Given the description of an element on the screen output the (x, y) to click on. 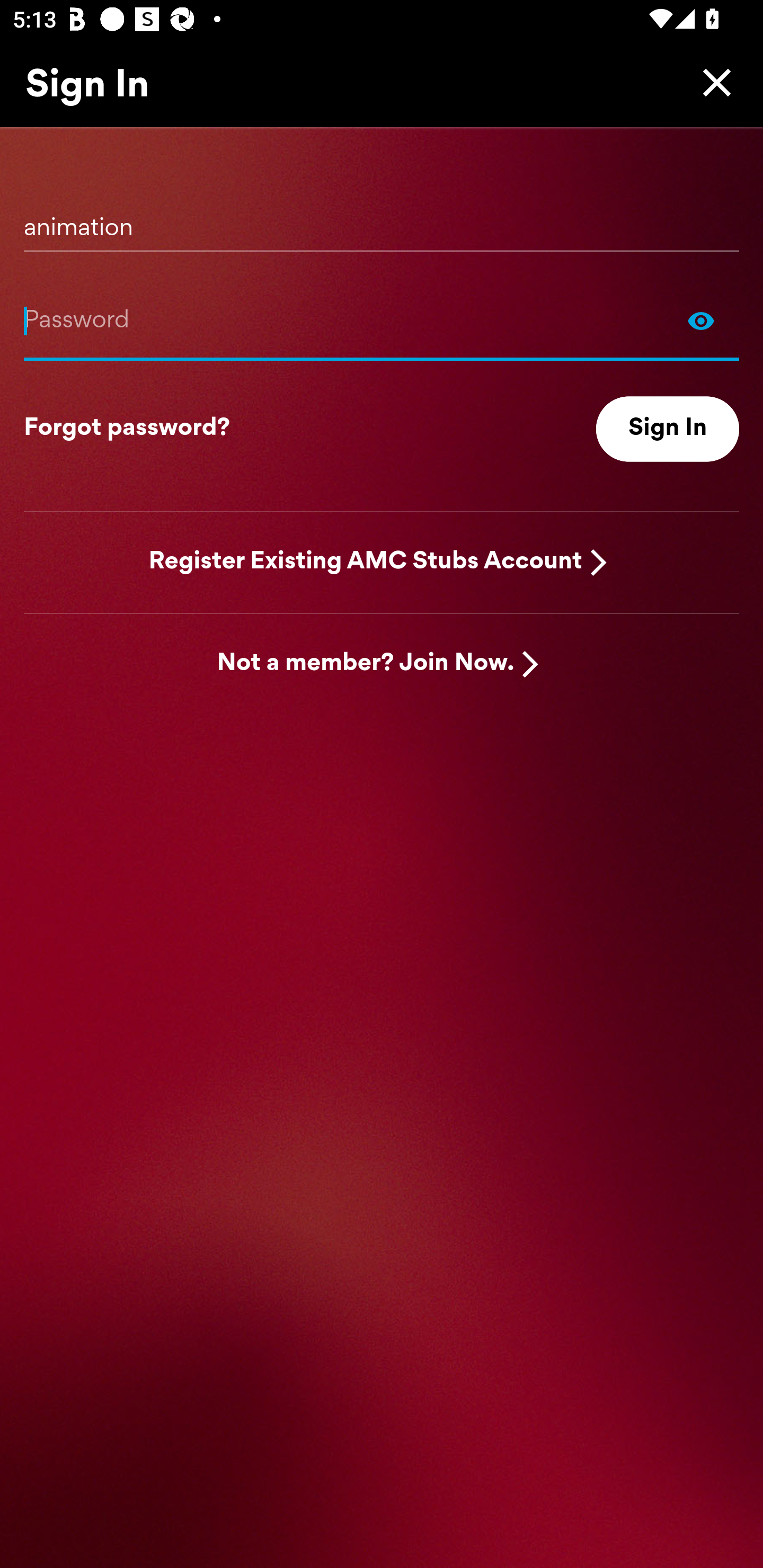
Close (712, 82)
animation (381, 220)
Show Password (381, 320)
Show Password (701, 320)
Forgot password? (126, 428)
Sign In (667, 428)
Register Existing AMC Stubs Account (365, 561)
Not a member? Join Now. (365, 663)
